Given the description of an element on the screen output the (x, y) to click on. 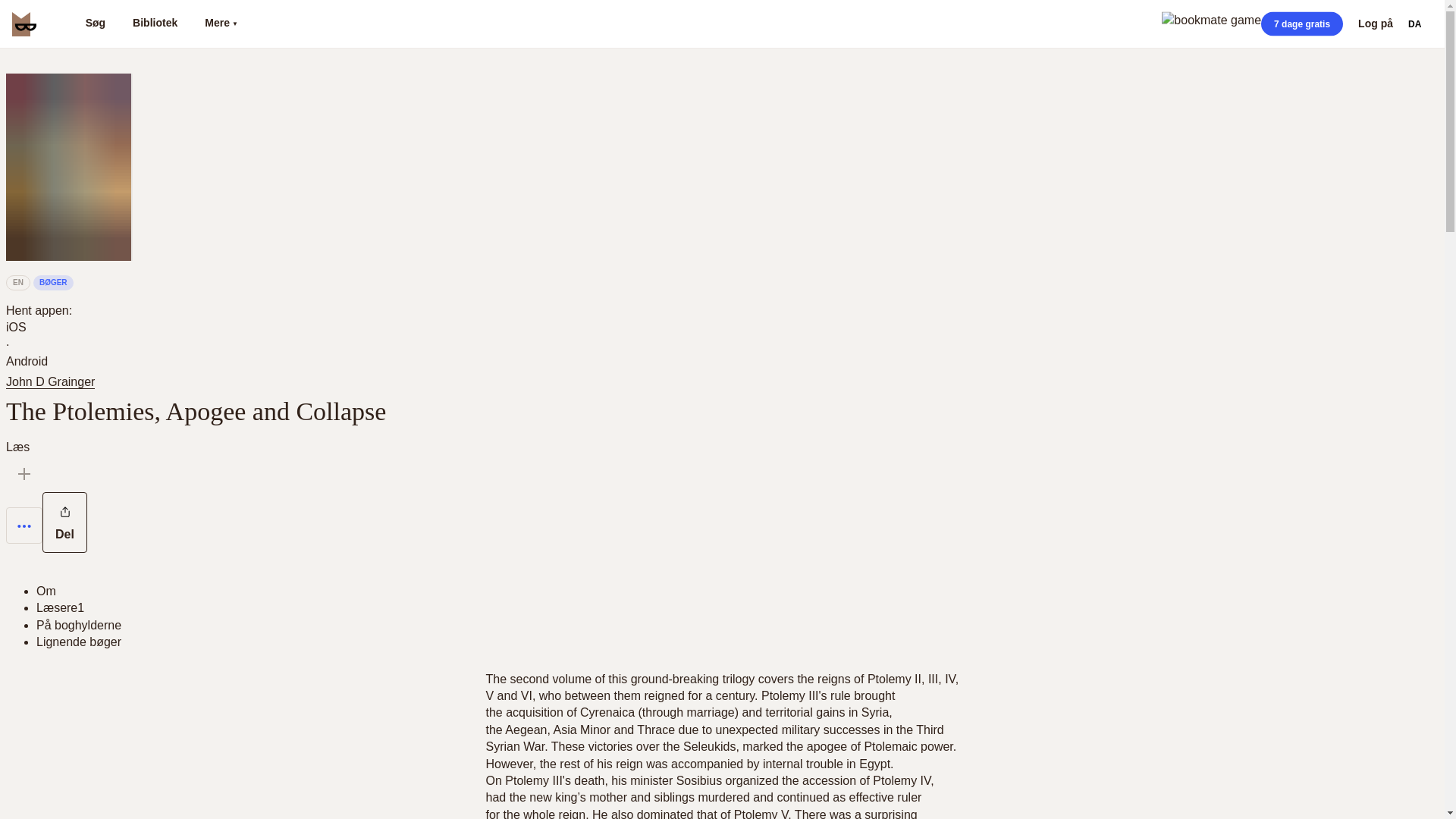
Om (46, 590)
7 dage gratis (1301, 23)
John D Grainger (52, 381)
John D Grainger (49, 382)
Bibliotek (155, 24)
